Given the description of an element on the screen output the (x, y) to click on. 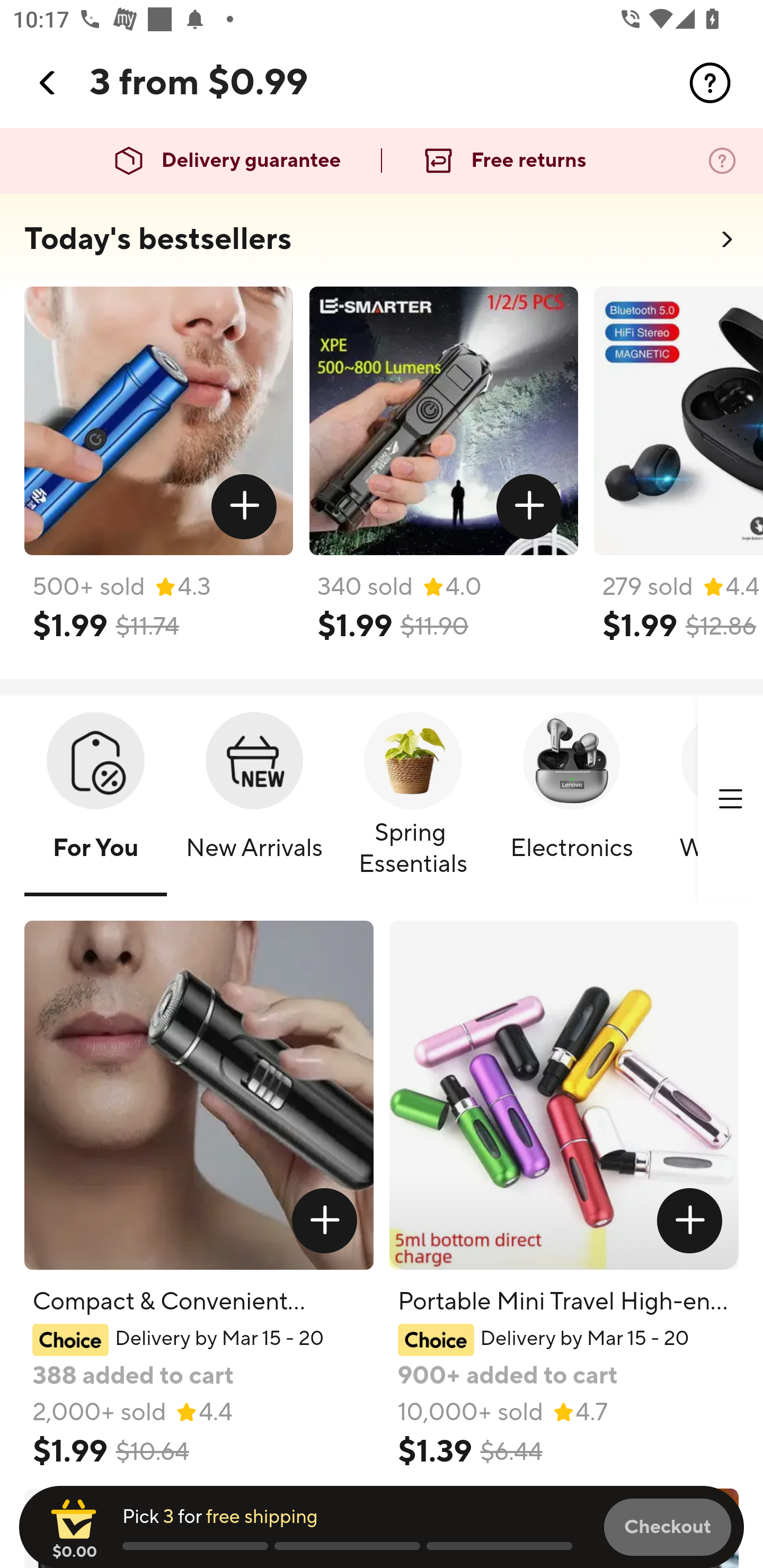
 (710, 82)
 (48, 82)
Today's bestsellers  Today's bestsellers  (381, 244)
Today's bestsellers (157, 239)
 (244, 506)
 (529, 506)
 (730, 799)
144x144.png_ For You (95, 800)
144x144.png_ New Arrivals (254, 800)
200x200.png_ Spring Essentials (412, 800)
300x300.png_ Electronics (571, 800)
 (323, 1220)
 (689, 1220)
